Given the description of an element on the screen output the (x, y) to click on. 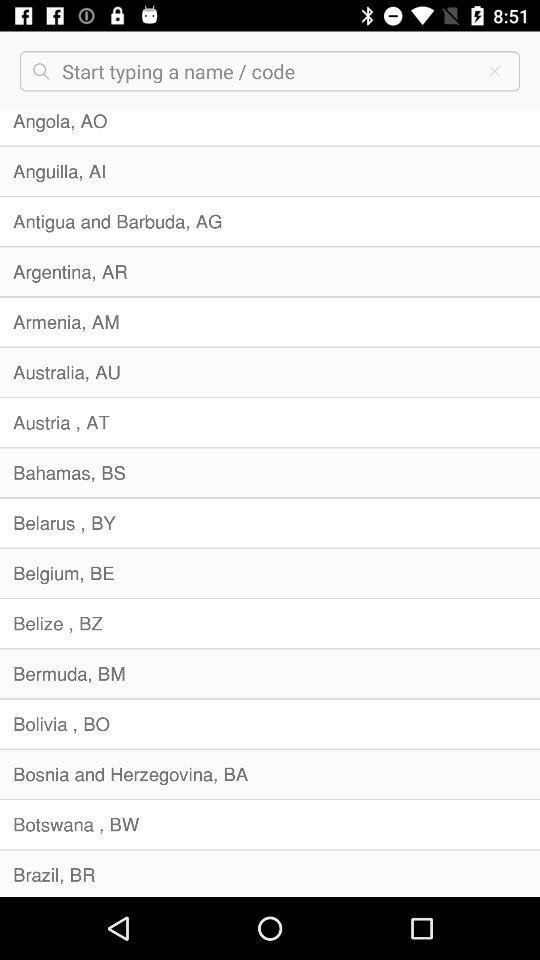
click the item below angola, ao icon (270, 171)
